Given the description of an element on the screen output the (x, y) to click on. 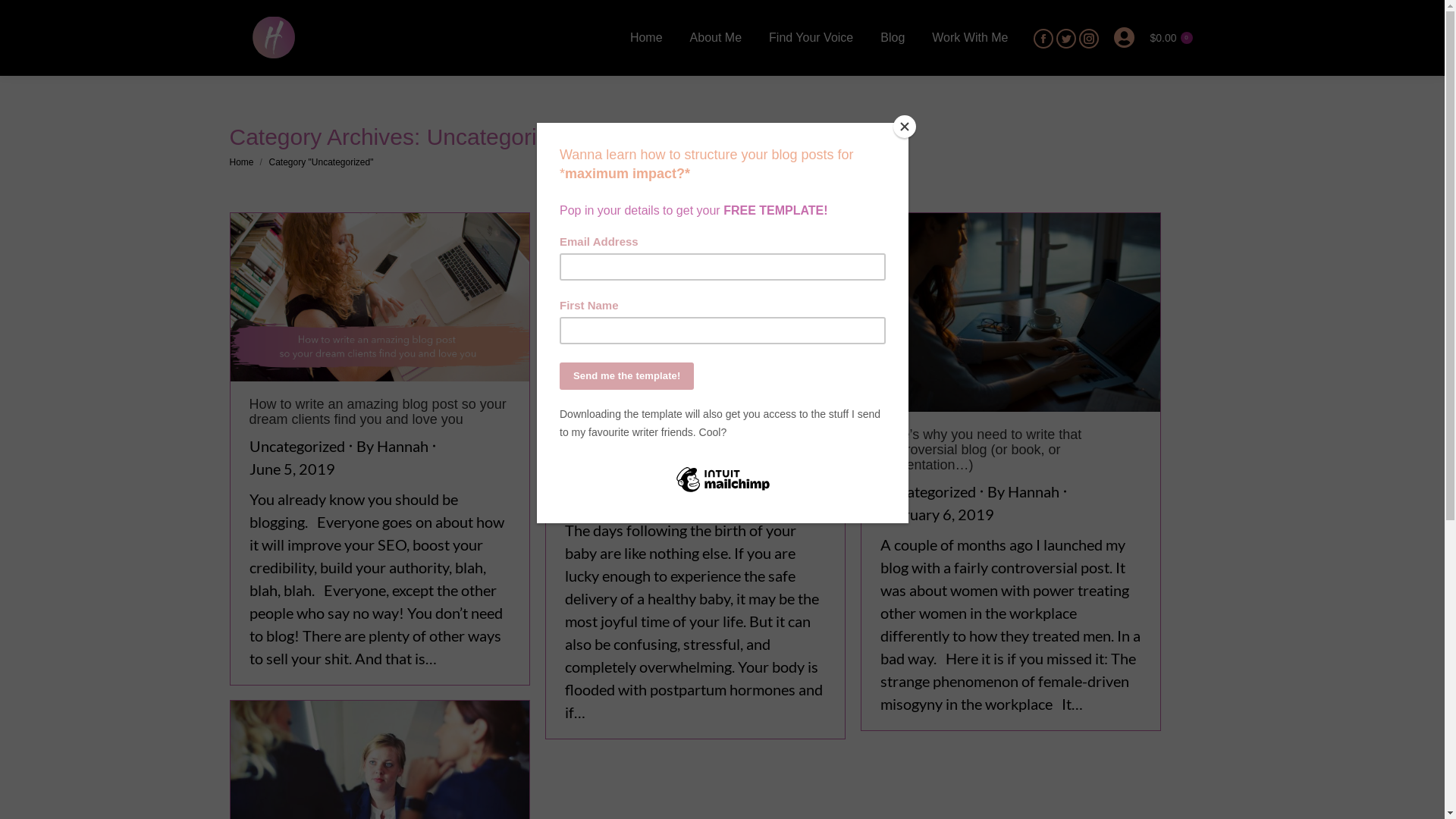
Home Element type: text (646, 37)
hospitalbirth Element type: hover (695, 312)
Instagram page opens in new window Element type: text (1088, 38)
$0.00
0 Element type: text (1170, 37)
Find Your Voice Element type: text (810, 37)
By Hannah Element type: text (710, 476)
June 5, 2019 Element type: text (291, 468)
Facebook page opens in new window Element type: text (1043, 38)
Work With Me Element type: text (969, 37)
February 6, 2019 Element type: text (936, 513)
Twitter page opens in new window Element type: text (1066, 38)
About Me Element type: text (715, 37)
Blog Element type: text (892, 37)
Uncategorized Element type: text (296, 445)
By Hannah Element type: text (1026, 491)
Uncategorized Element type: text (611, 476)
By Hannah Element type: text (395, 445)
Home Element type: text (241, 161)
February 6, 2019 Element type: text (620, 499)
feminist+blogger Element type: hover (1010, 312)
Uncategorized Element type: text (927, 491)
